Given the description of an element on the screen output the (x, y) to click on. 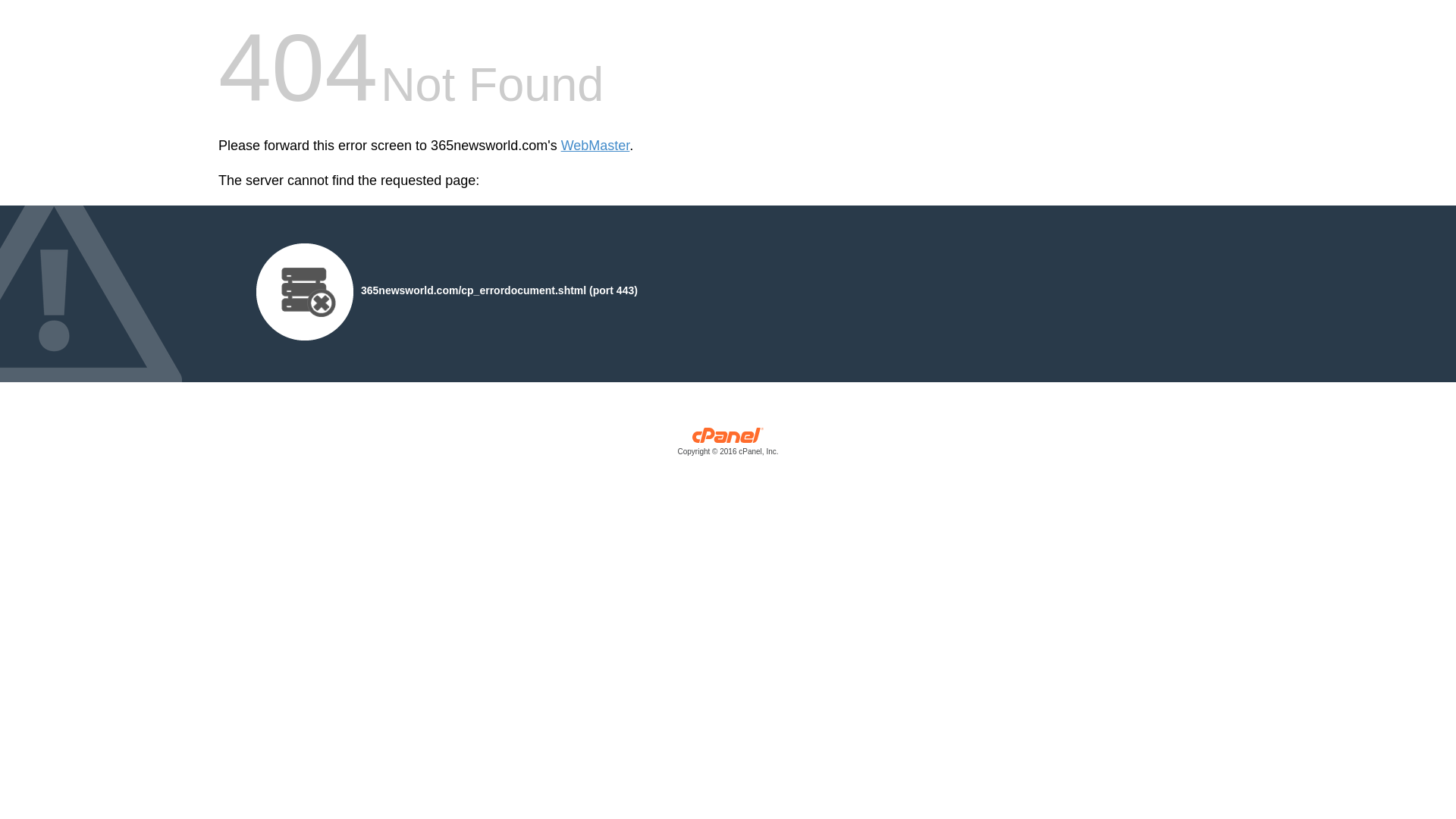
WebMaster Element type: text (595, 145)
